Given the description of an element on the screen output the (x, y) to click on. 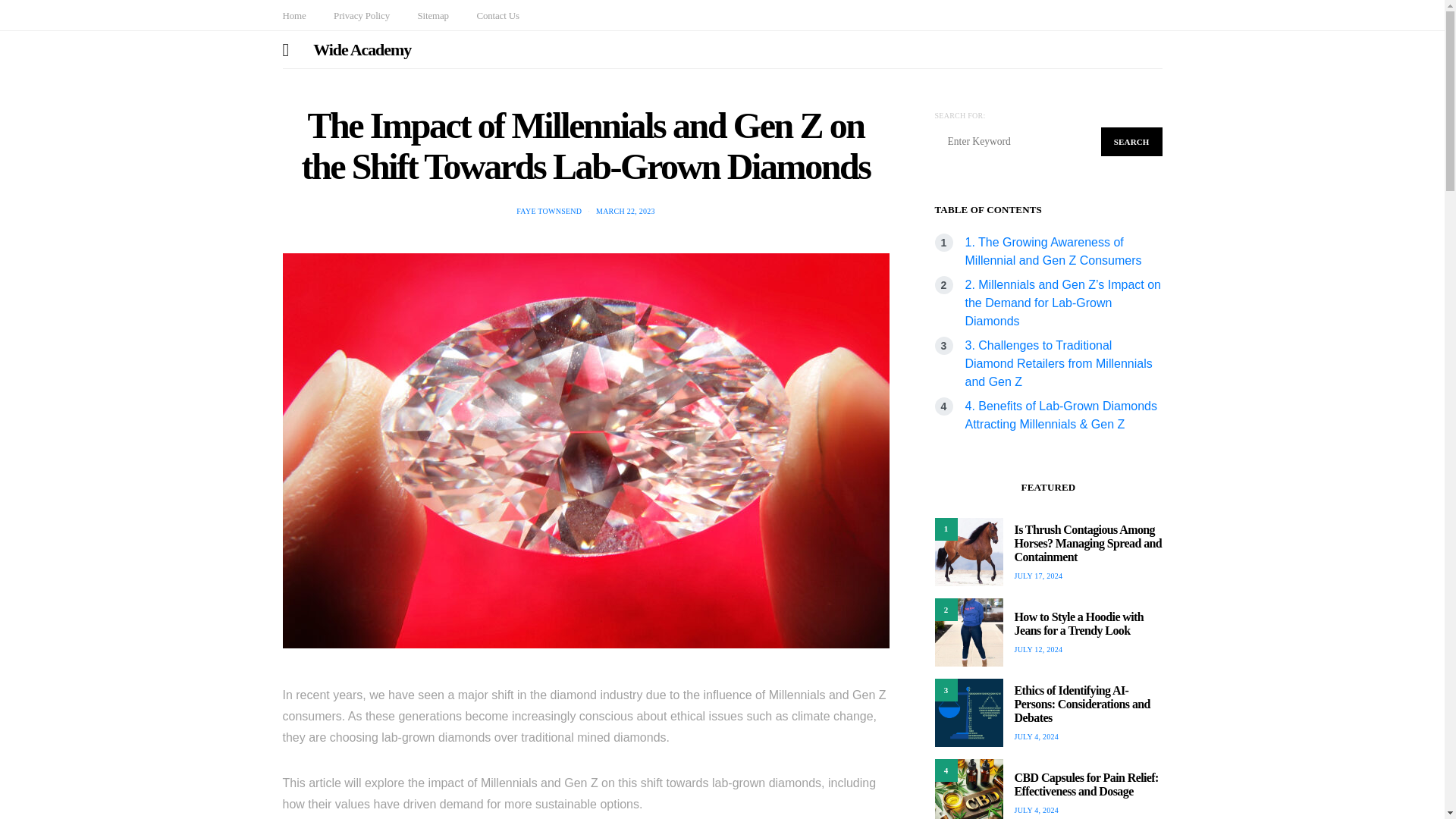
Privacy Policy (361, 15)
1. The Growing Awareness of Millennial and Gen Z Consumers (1052, 251)
SEARCH (1130, 141)
Contact Us (497, 15)
View all posts by Faye Townsend (548, 211)
Home (293, 15)
Wide Academy (361, 49)
MARCH 22, 2023 (625, 211)
Sitemap (432, 15)
1 (968, 551)
FAYE TOWNSEND (548, 211)
